Given the description of an element on the screen output the (x, y) to click on. 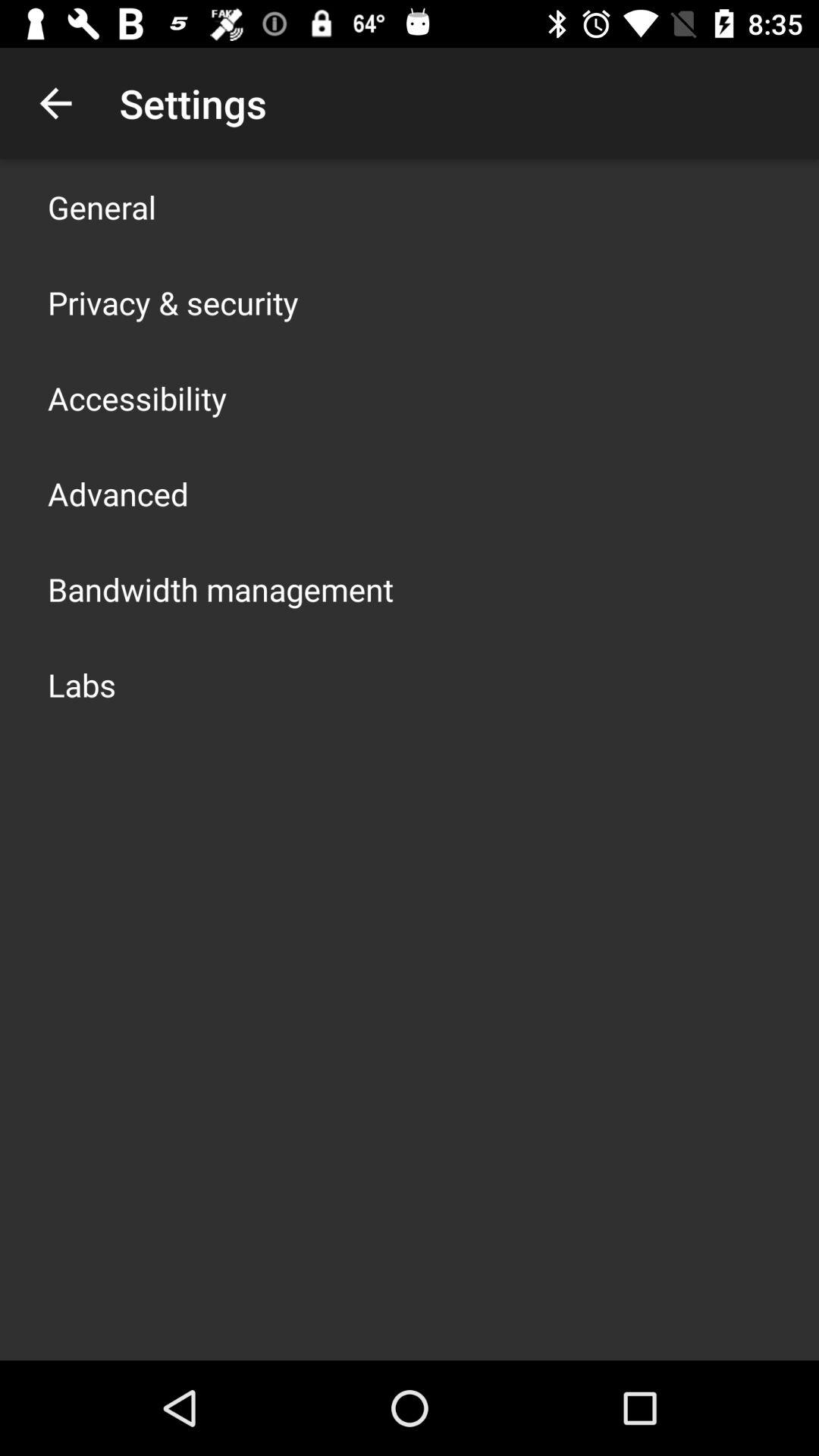
select item above bandwidth management item (117, 493)
